Given the description of an element on the screen output the (x, y) to click on. 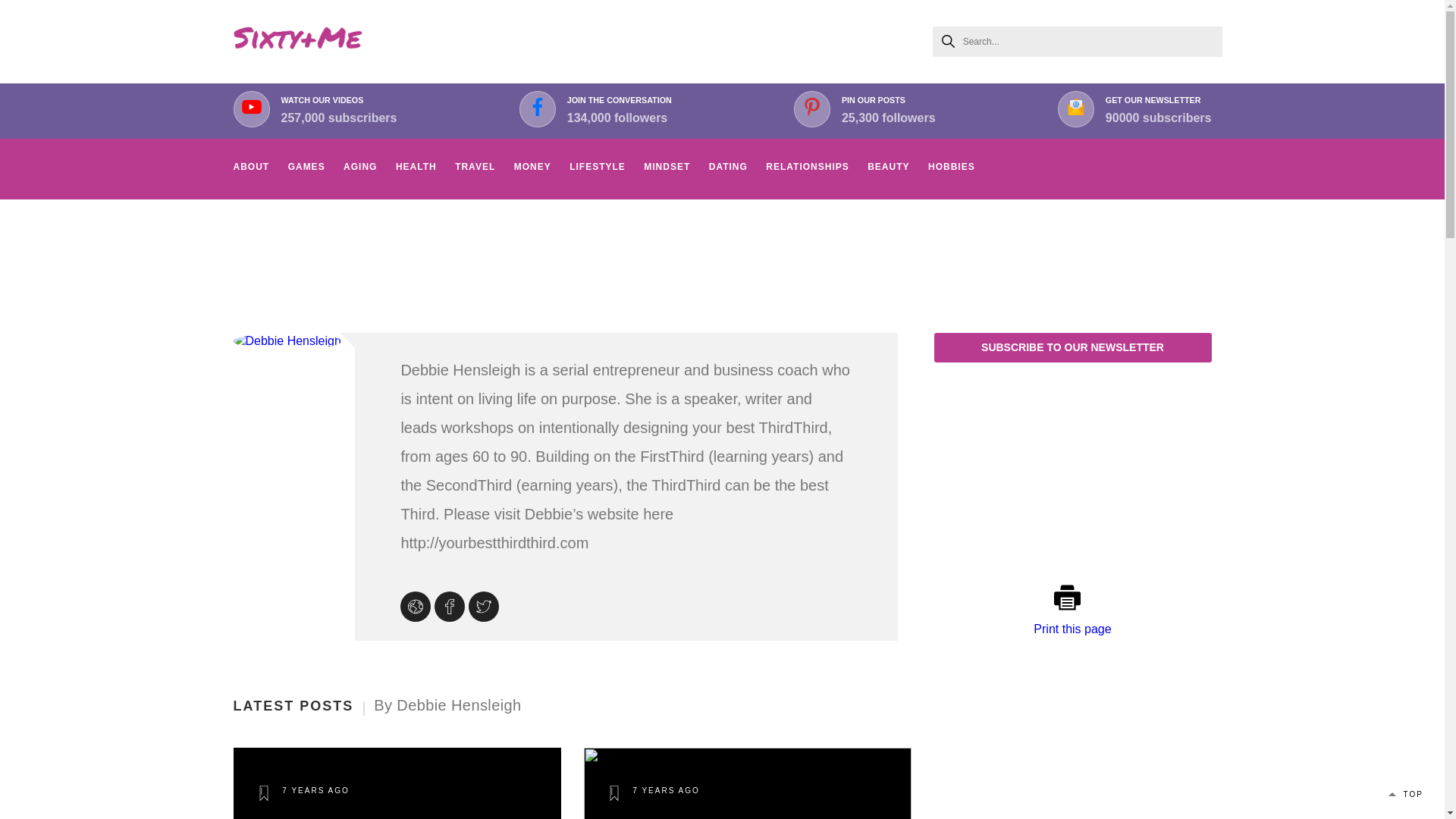
Sixty and Me (297, 40)
print this page (1071, 597)
Twitter (485, 608)
Url (1158, 108)
Facebook (416, 608)
Search... (888, 108)
